Given the description of an element on the screen output the (x, y) to click on. 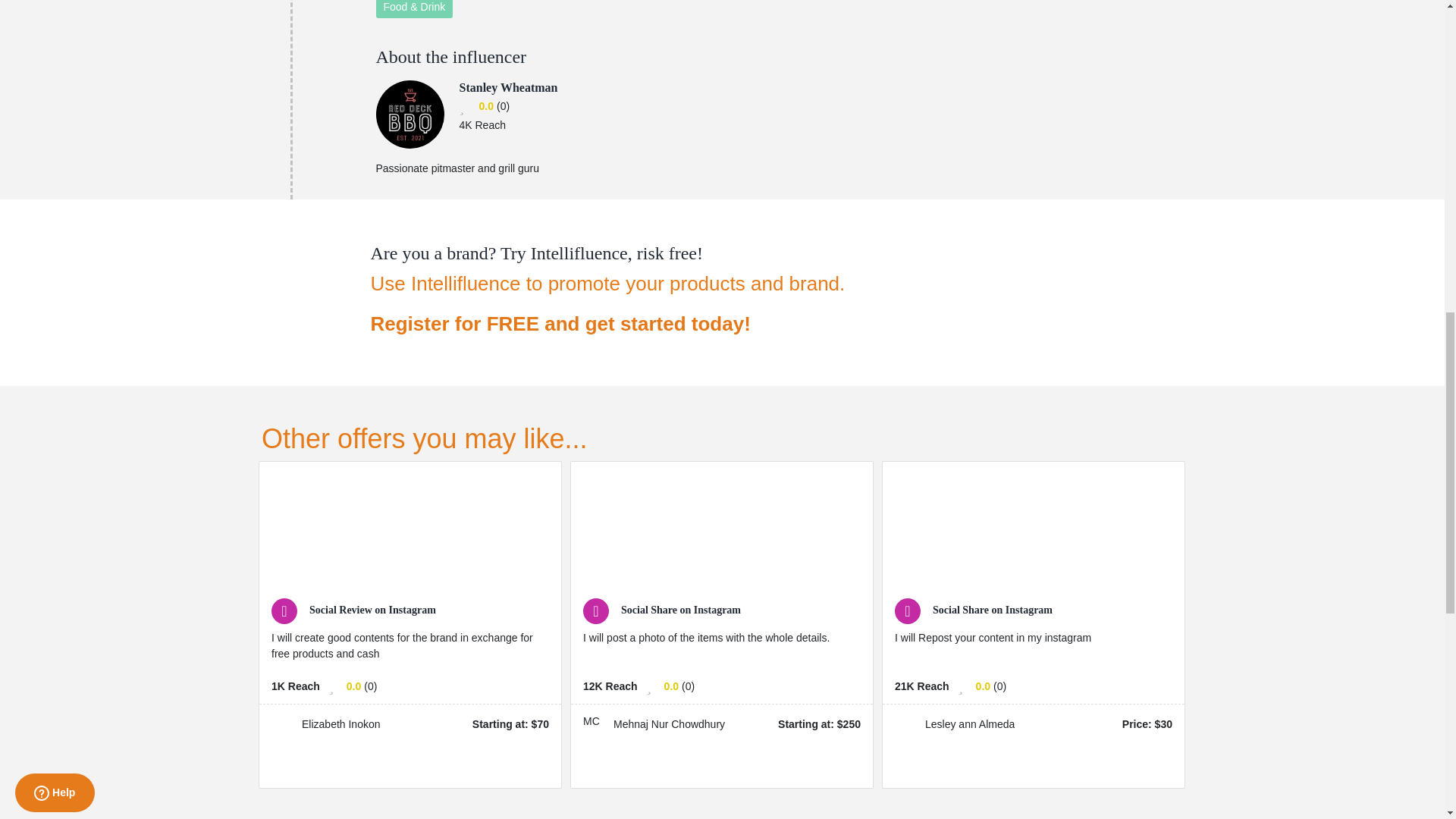
Star rating out of 5 (982, 686)
Star rating out of 5 (353, 686)
Mehnaj Nur Chowdhury (594, 724)
Register for FREE and get started today! (606, 323)
Star rating out of 5 (670, 686)
Star rating out of 5 (486, 106)
